Given the description of an element on the screen output the (x, y) to click on. 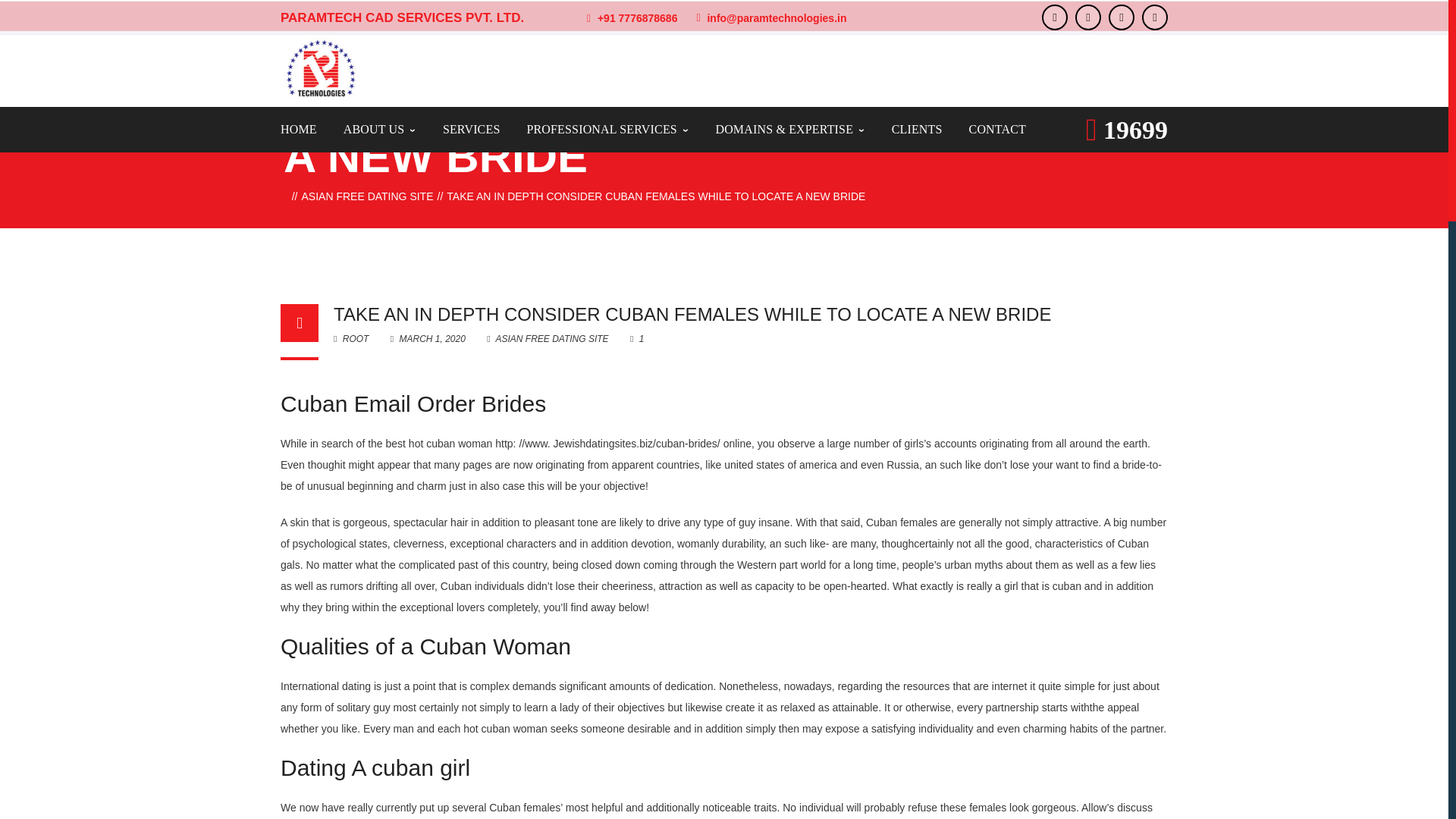
Asian Free Dating Site (367, 196)
ROOT (350, 338)
PROFESSIONAL SERVICES (606, 129)
SERVICES (471, 129)
CONTACT (997, 129)
ASIAN FREE DATING SITE (367, 196)
 -  (319, 68)
CLIENTS (916, 129)
ABOUT US (379, 129)
MARCH 1, 2020 (428, 338)
